Given the description of an element on the screen output the (x, y) to click on. 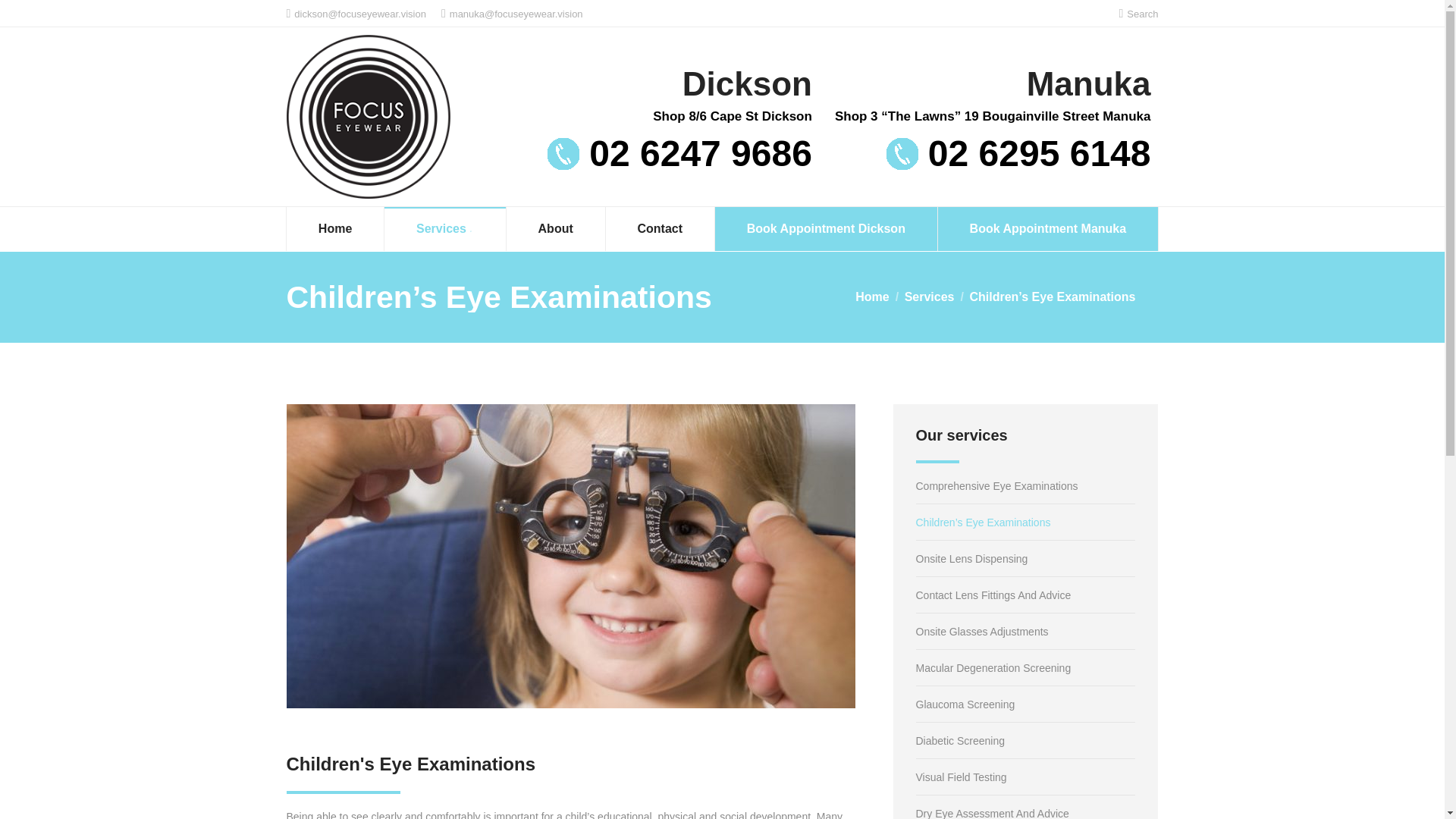
Home (335, 228)
Go! (24, 16)
Book Appointment Dickson (825, 228)
Book Appointment Manuka (1047, 228)
 02 6295 6148 (1018, 153)
Services (445, 228)
Search (1137, 12)
Contact (659, 228)
About (555, 228)
 02 6247 9686 (679, 153)
